Given the description of an element on the screen output the (x, y) to click on. 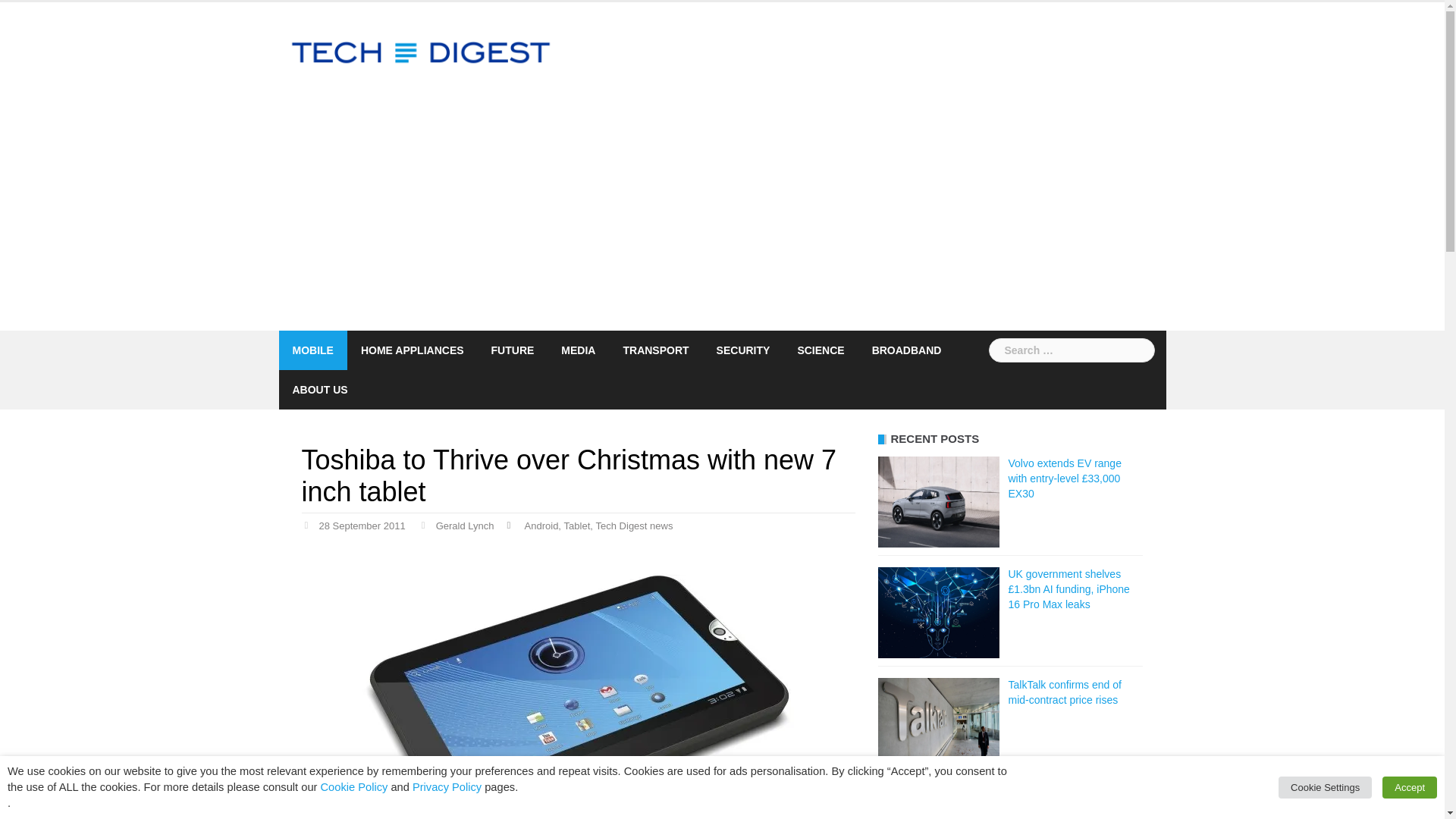
MOBILE (312, 350)
FUTURE (513, 350)
Tech Digest (421, 51)
HOME APPLIANCES (412, 350)
